Given the description of an element on the screen output the (x, y) to click on. 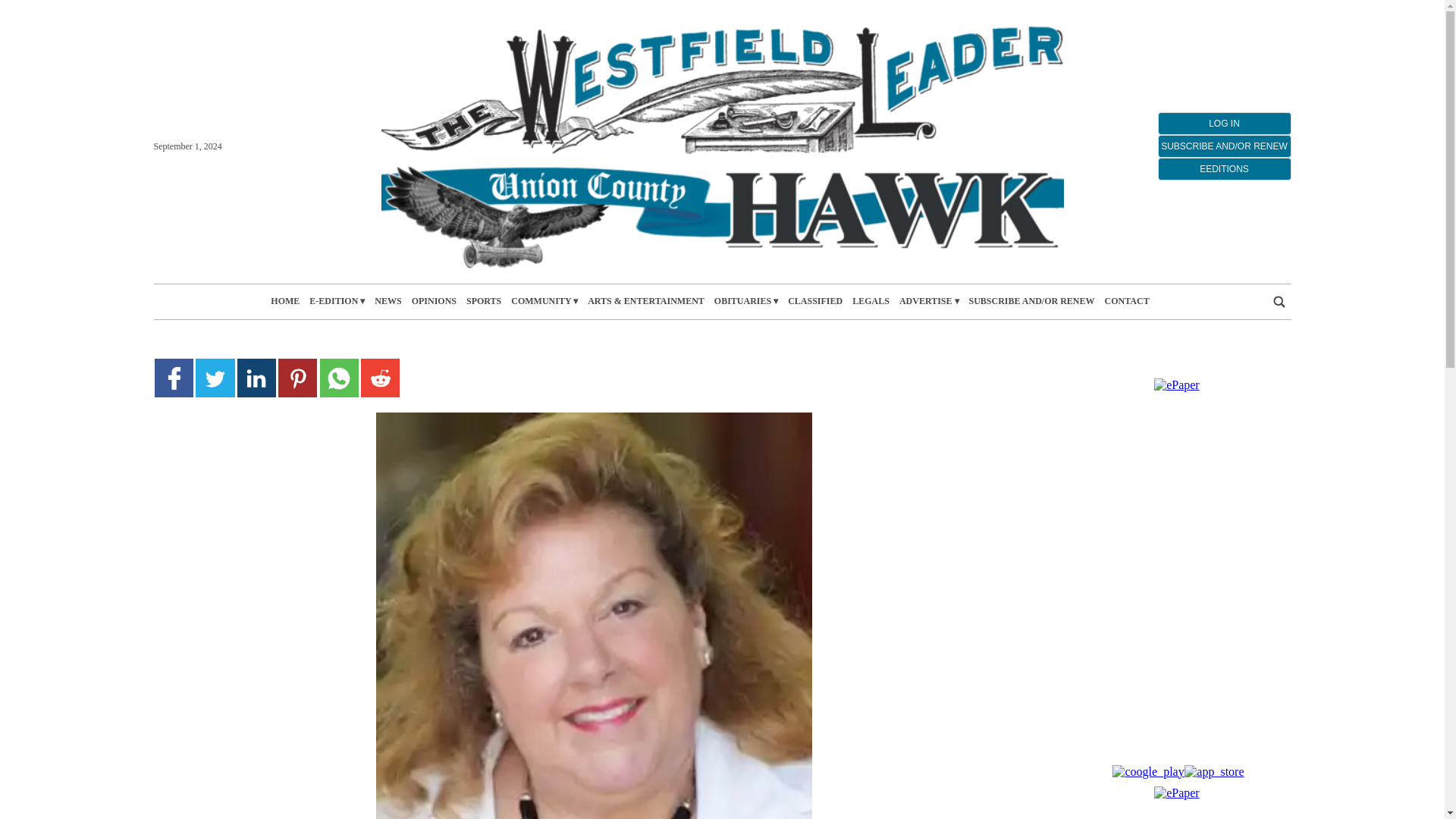
HOME (285, 301)
NEWS (387, 301)
E-EDITION (336, 301)
EEDITIONS (1223, 169)
LOG IN (1223, 123)
ePaper (1176, 792)
ePaper (1176, 384)
